Given the description of an element on the screen output the (x, y) to click on. 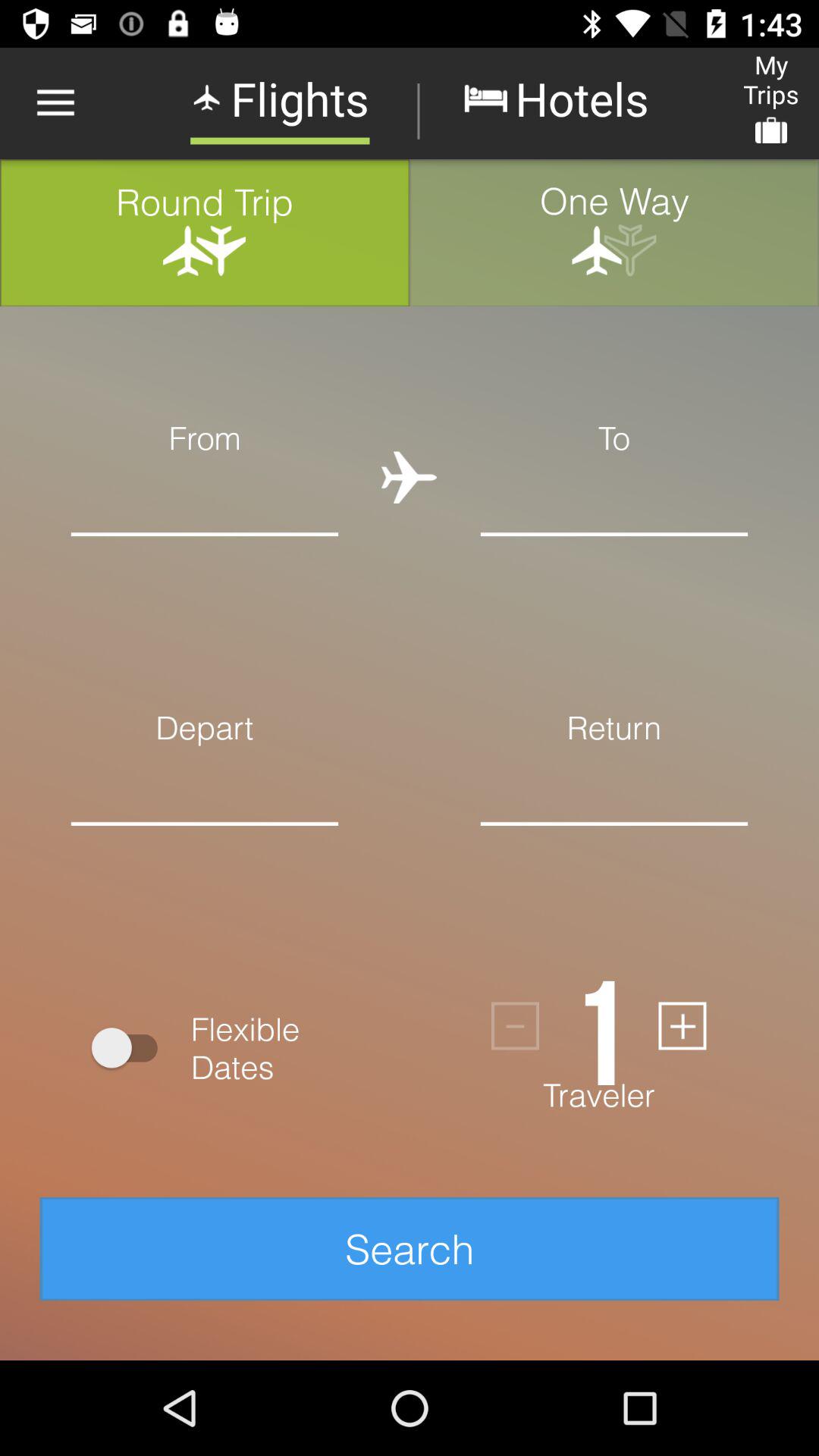
click icon next to the 1 item (515, 1025)
